Given the description of an element on the screen output the (x, y) to click on. 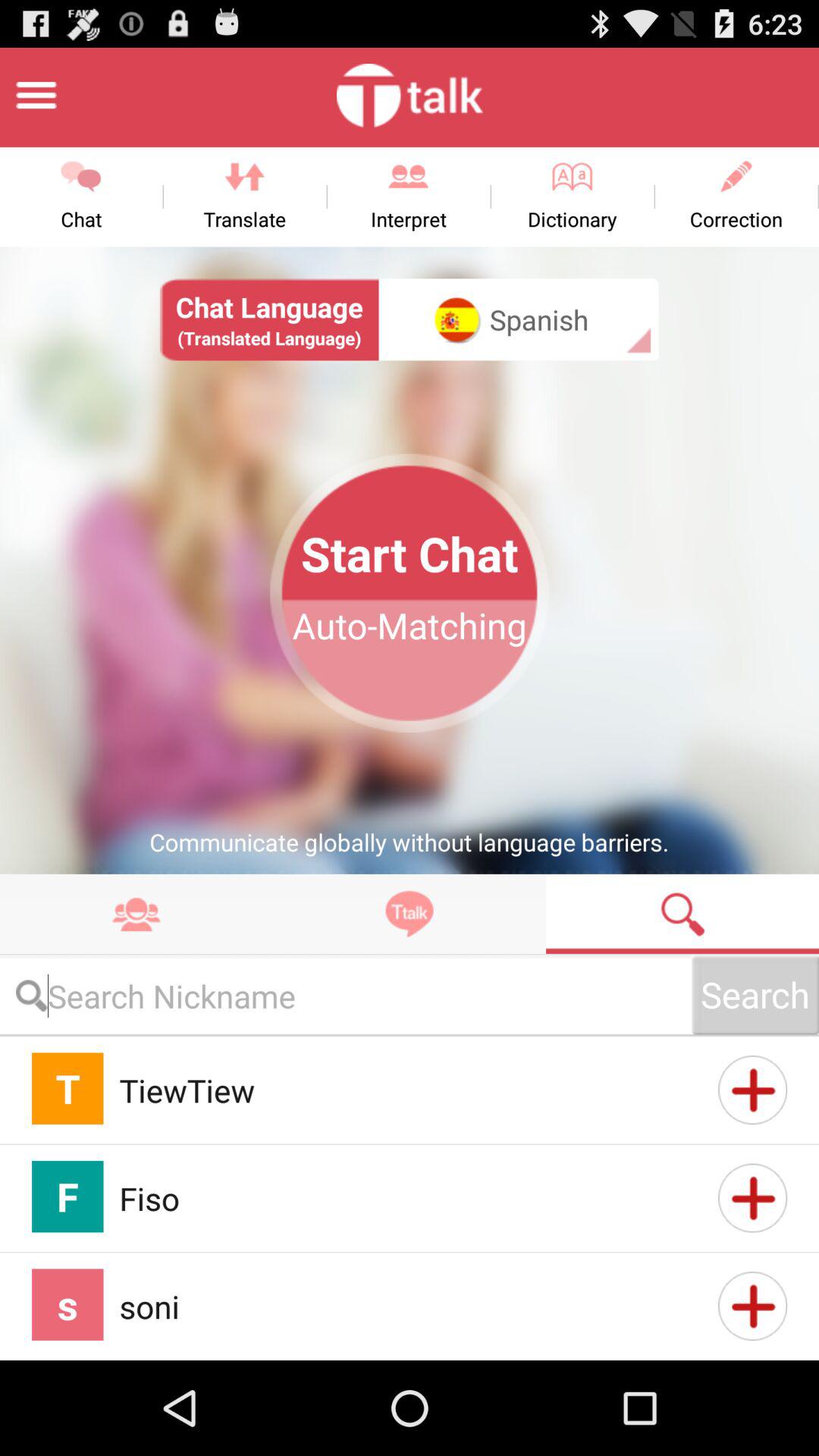
click to search option (345, 995)
